Given the description of an element on the screen output the (x, y) to click on. 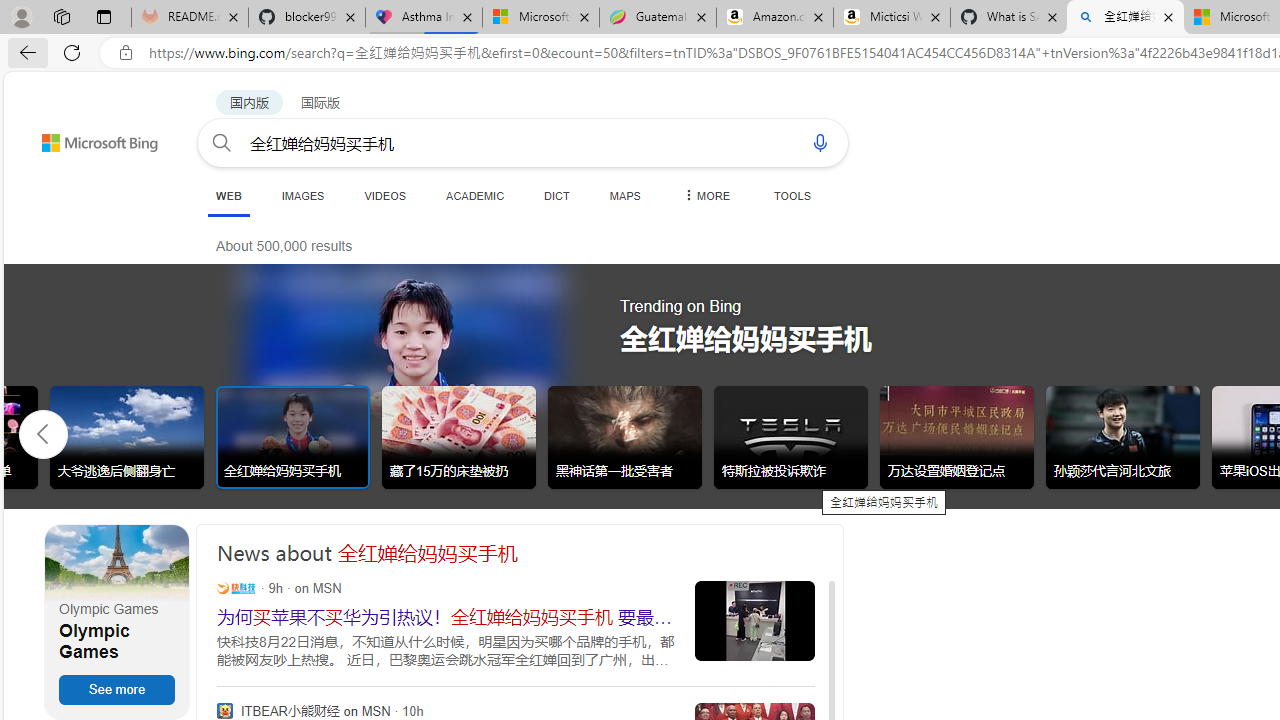
Back to Bing search (87, 138)
